Given the description of an element on the screen output the (x, y) to click on. 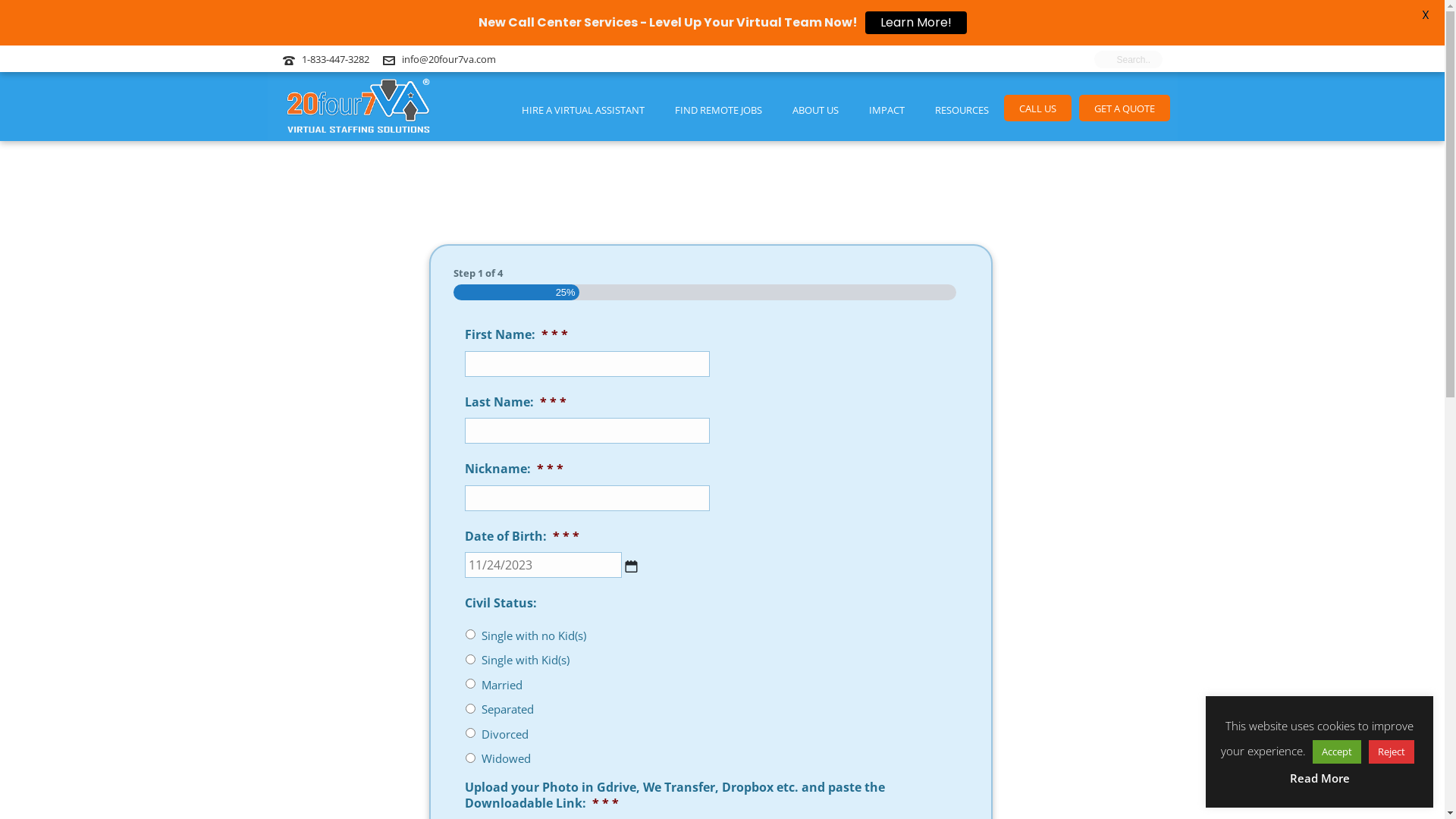
Select date Element type: hover (630, 566)
IMPACT Element type: text (886, 106)
Learn More! Element type: text (915, 22)
RESOURCES Element type: text (961, 106)
Reject Element type: text (1391, 751)
HIRE A VIRTUAL ASSISTANT Element type: text (582, 106)
1-833-447-3282 Element type: text (335, 58)
Our business is to make sure your business succeeds. Element type: hover (357, 105)
Read More Element type: text (1319, 777)
FIND REMOTE JOBS Element type: text (718, 106)
CALL US Element type: text (1037, 104)
GET A QUOTE Element type: text (1123, 104)
Accept Element type: text (1336, 751)
ABOUT US Element type: text (814, 106)
info@20four7va.com Element type: text (448, 58)
